Given the description of an element on the screen output the (x, y) to click on. 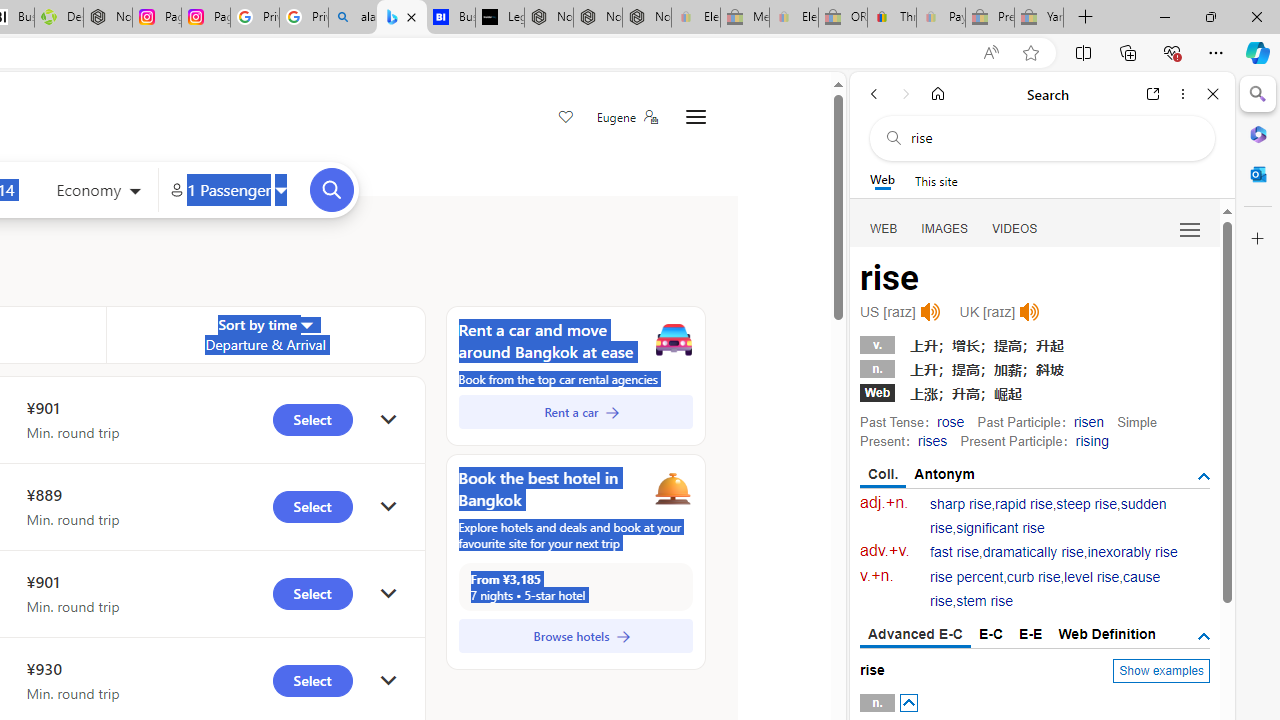
rise percent (966, 577)
VIDEOS (1015, 228)
curb rise (1033, 577)
Sort by time Sorter Departure & Arrival (265, 334)
1 Passenger (228, 189)
E-E (1030, 633)
Advanced E-C (915, 635)
steep rise (1086, 503)
cause rise (1045, 589)
Antonym (945, 473)
Yard, Garden & Outdoor Living - Sleeping (1039, 17)
